Given the description of an element on the screen output the (x, y) to click on. 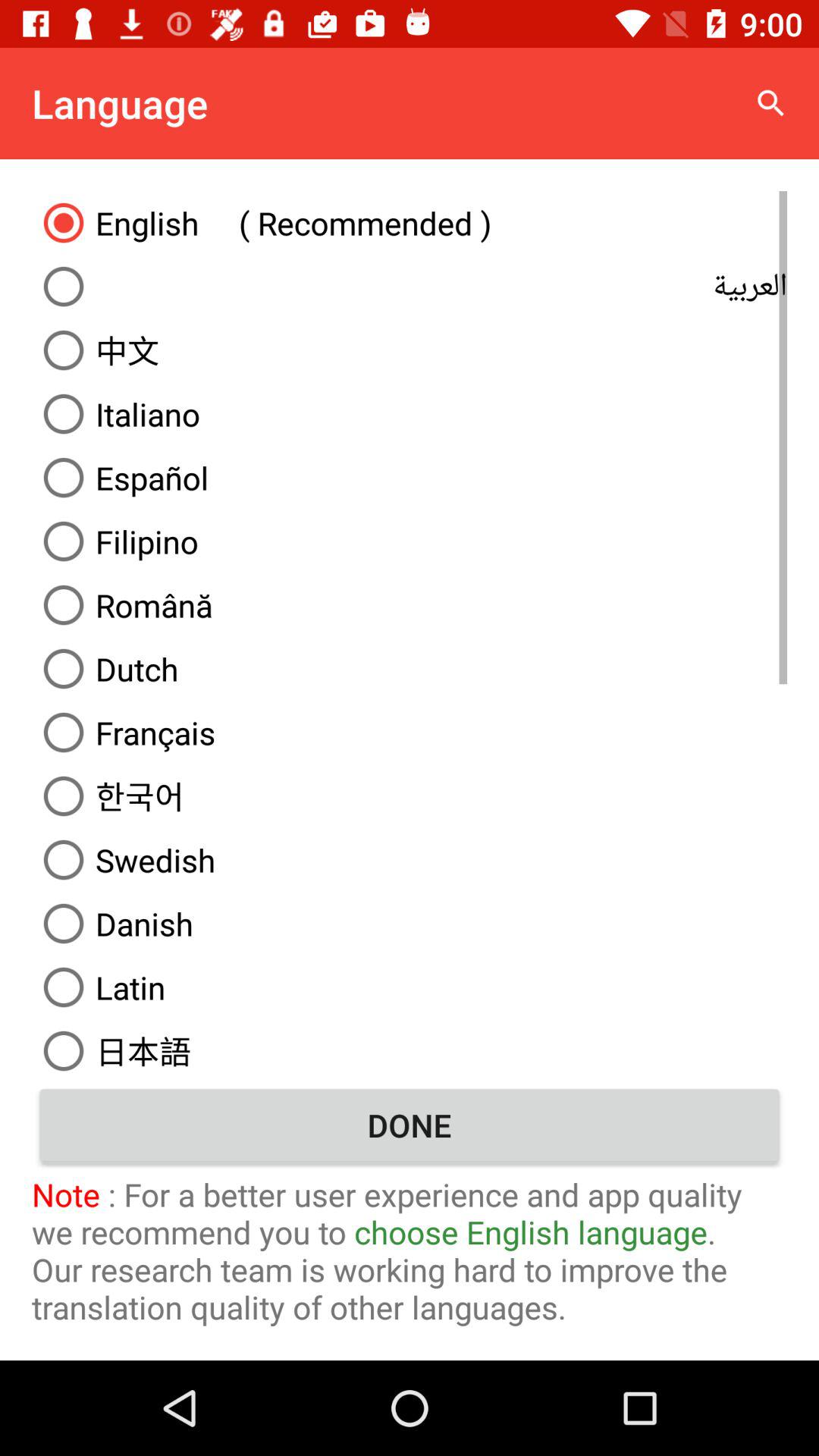
click the italiano icon (409, 413)
